Given the description of an element on the screen output the (x, y) to click on. 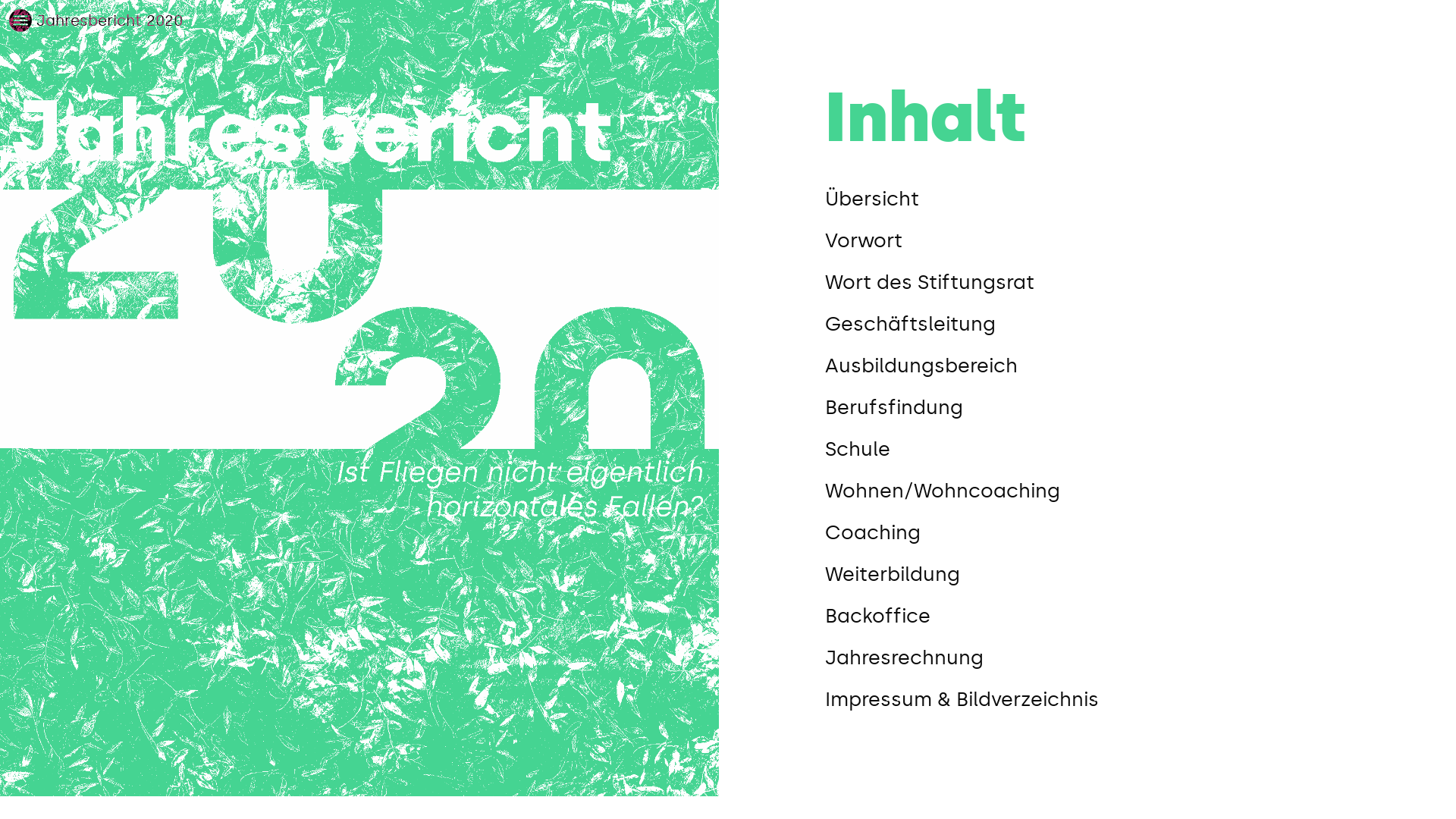
Weiterbildung Element type: text (1082, 574)
Jahresrechnung Element type: text (1082, 657)
Berufsfindung Element type: text (1082, 407)
Coaching Element type: text (1082, 532)
Impressum & Bildverzeichnis Element type: text (1082, 699)
Wohnen/Wohncoaching Element type: text (1082, 490)
Backoffice Element type: text (1082, 616)
Schule Element type: text (1082, 449)
Wort des Stiftungsrat Element type: text (1082, 282)
Ausbildungsbereich Element type: text (1082, 365)
Vorwort Element type: text (1082, 240)
